Given the description of an element on the screen output the (x, y) to click on. 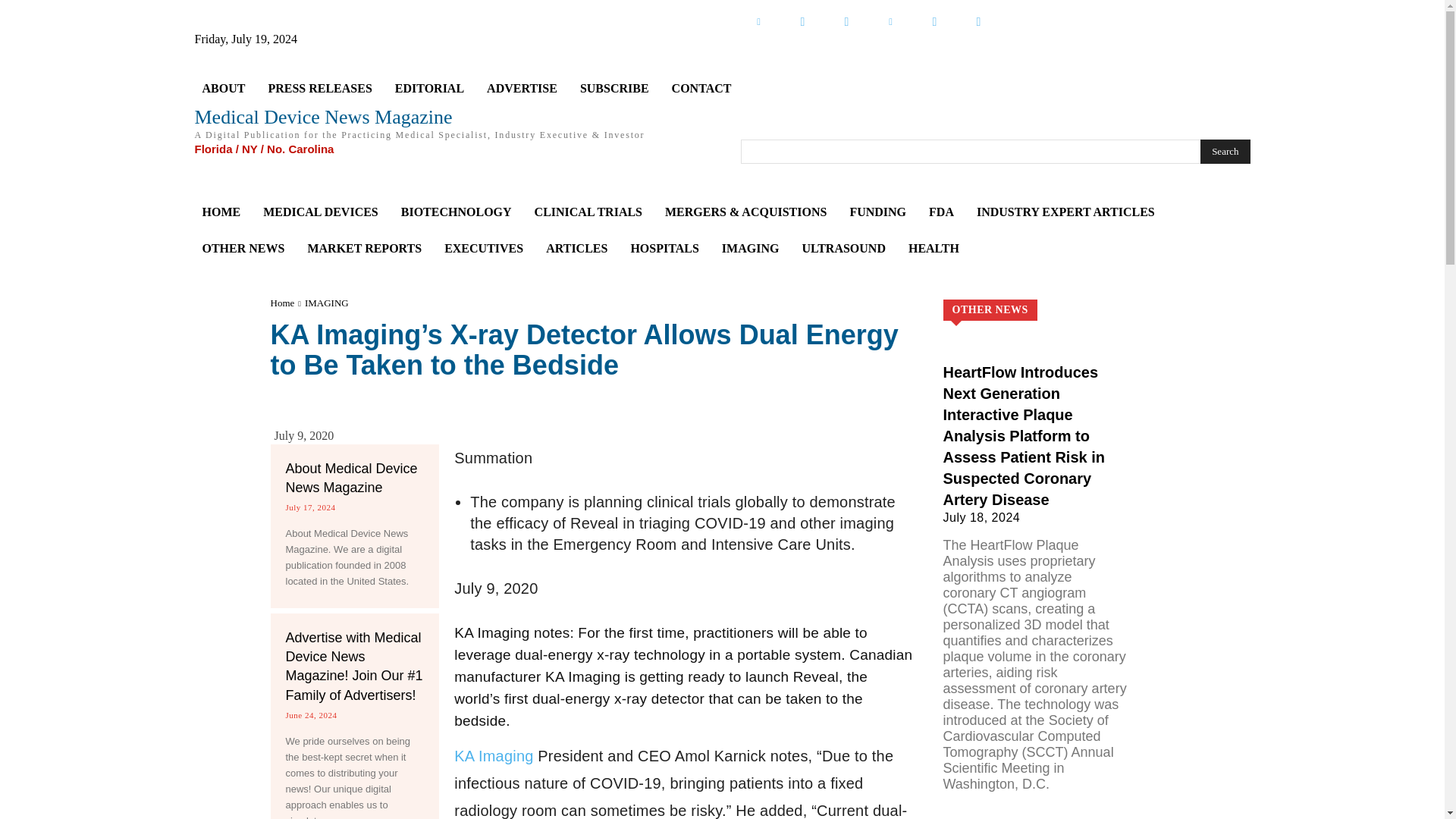
LinkedIn (757, 22)
SUBSCRIBE (614, 88)
Twitter (802, 22)
EDITORIAL (429, 88)
CLINICAL TRIALS (588, 212)
Instagram (977, 22)
CONTACT (701, 88)
ABOUT (222, 88)
View all posts in IMAGING (326, 302)
Search (1224, 151)
Pinterest (890, 22)
Reddit (933, 22)
BIOTECHNOLOGY (456, 212)
MEDICAL DEVICES (320, 212)
ADVERTISE (521, 88)
